Given the description of an element on the screen output the (x, y) to click on. 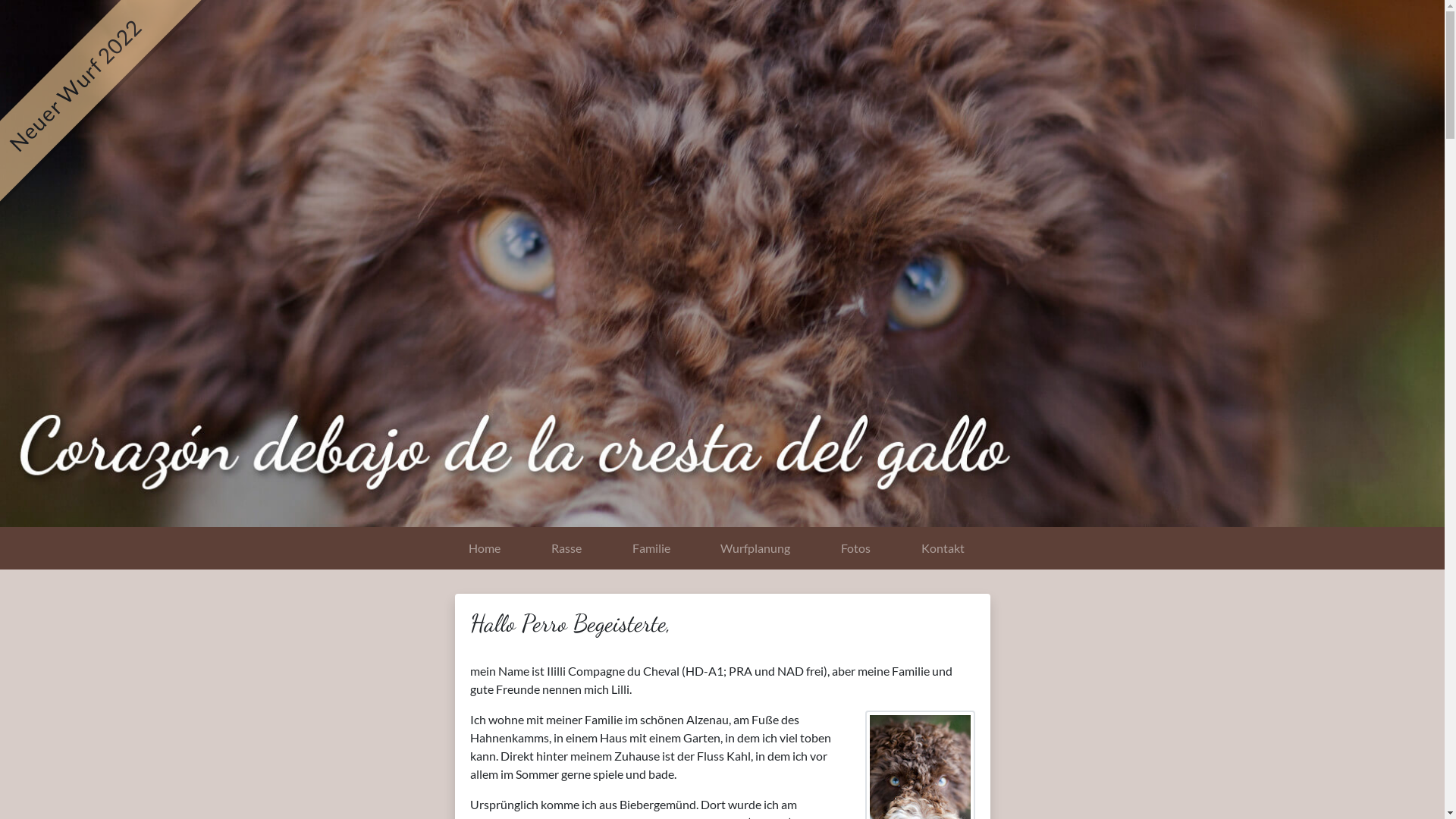
Fotos Element type: text (855, 548)
Home Element type: text (483, 548)
Rasse Element type: text (565, 548)
Wurfplanung Element type: text (755, 548)
Familie Element type: text (650, 548)
Kontakt Element type: text (943, 548)
